Given the description of an element on the screen output the (x, y) to click on. 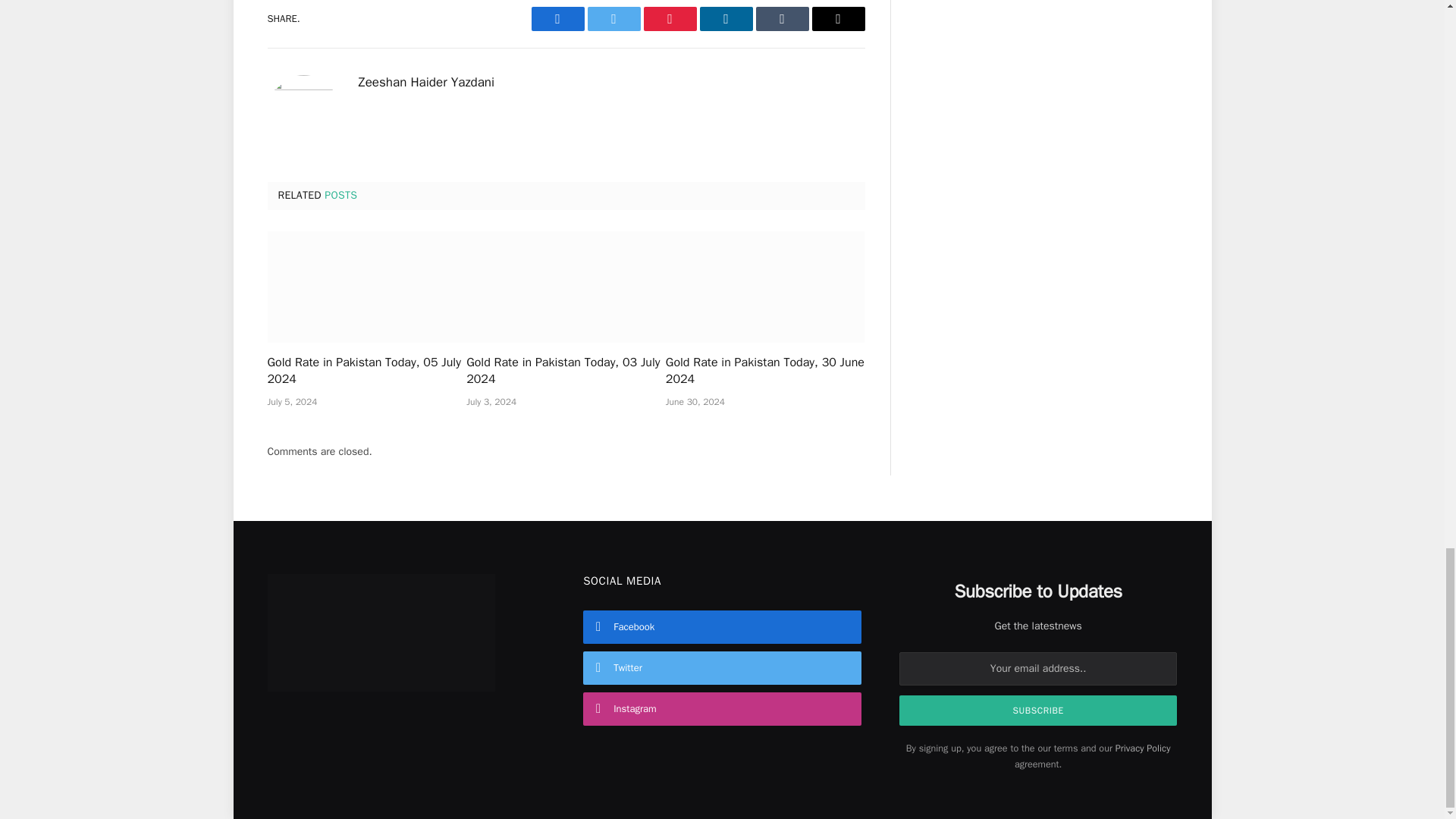
Subscribe (1038, 710)
